Given the description of an element on the screen output the (x, y) to click on. 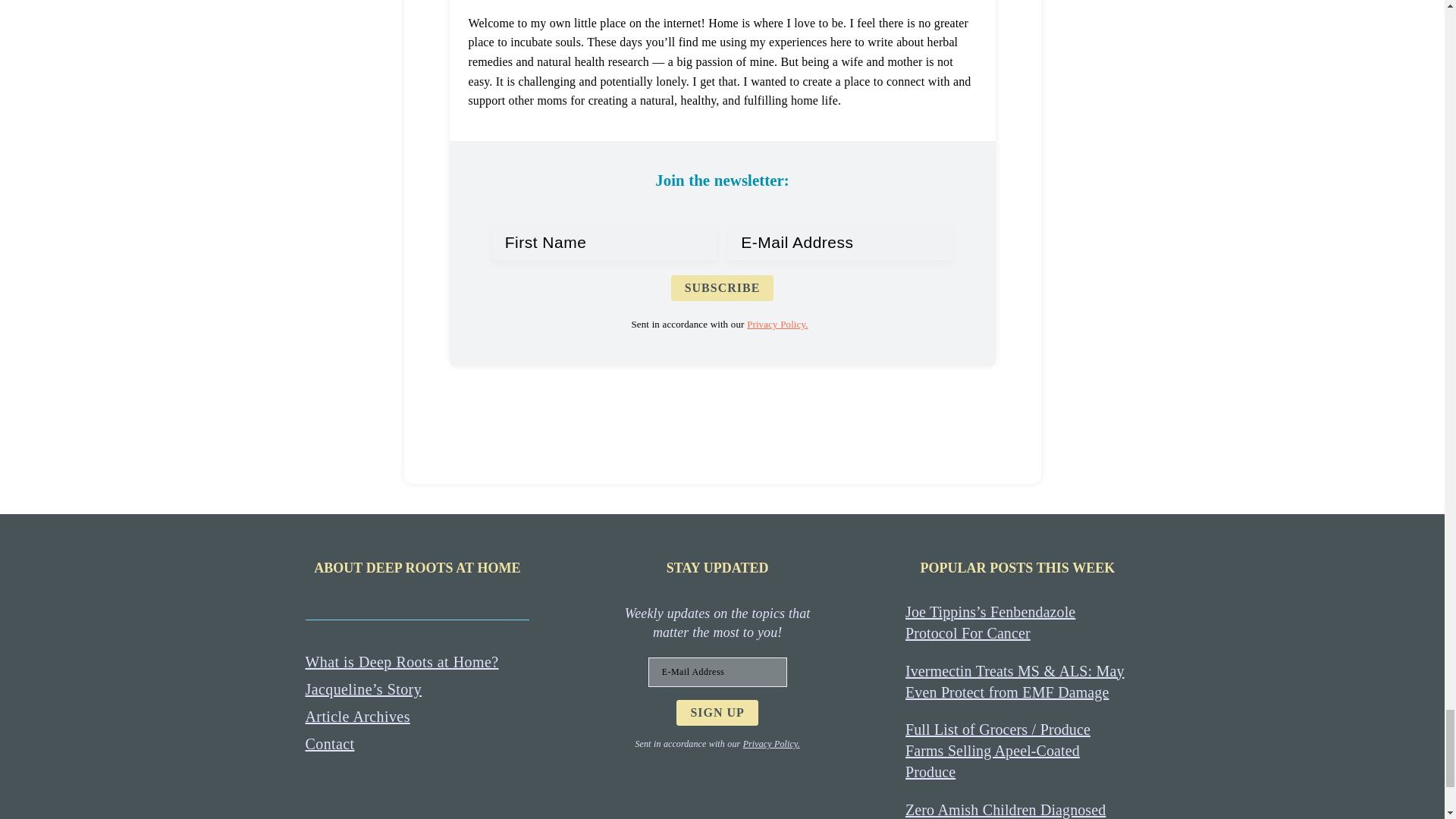
SUBSCRIBE (722, 288)
Sign Up (717, 712)
